Given the description of an element on the screen output the (x, y) to click on. 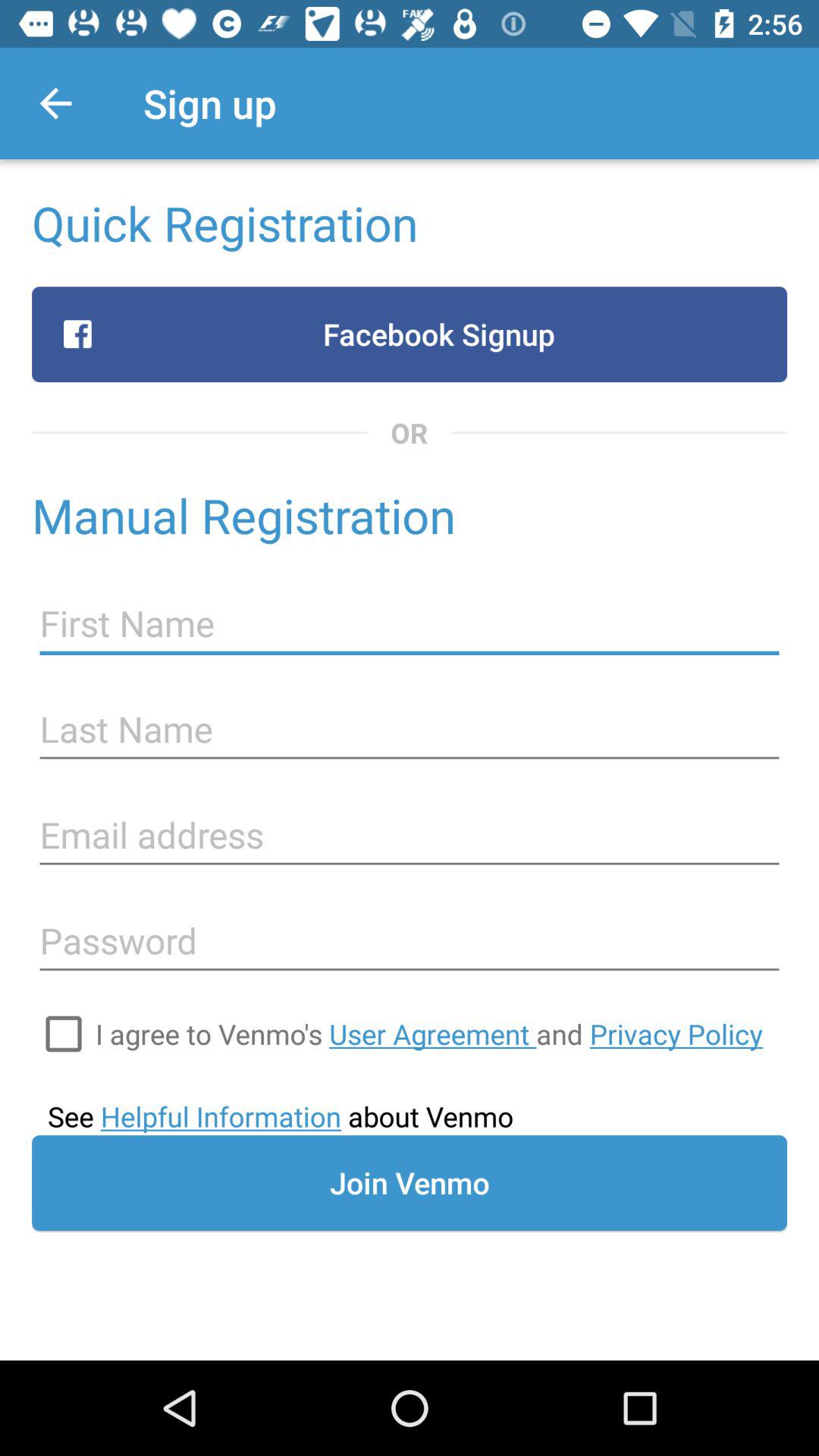
select the icon above see helpful information icon (428, 1033)
